Given the description of an element on the screen output the (x, y) to click on. 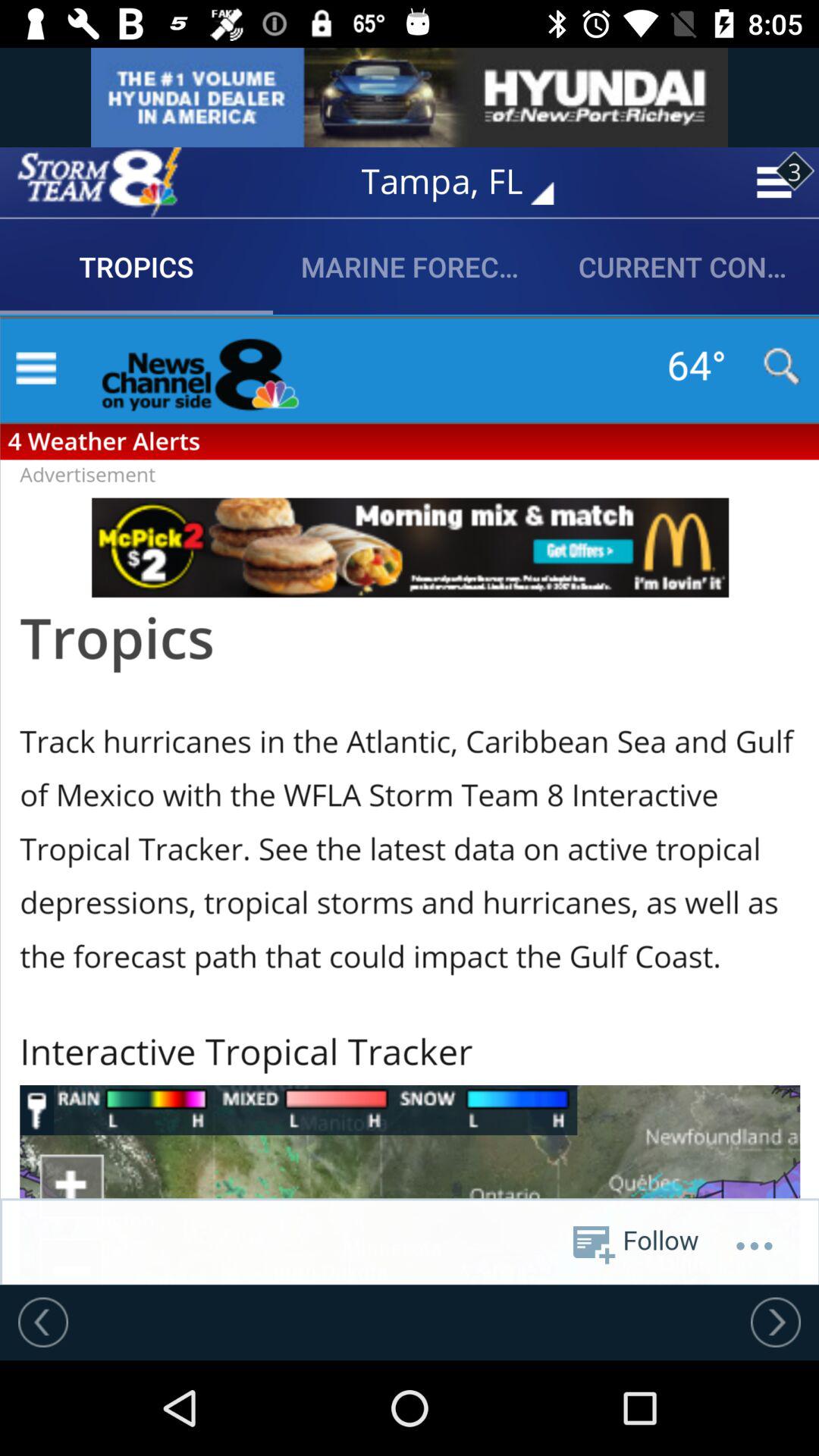
advertising (409, 97)
